Given the description of an element on the screen output the (x, y) to click on. 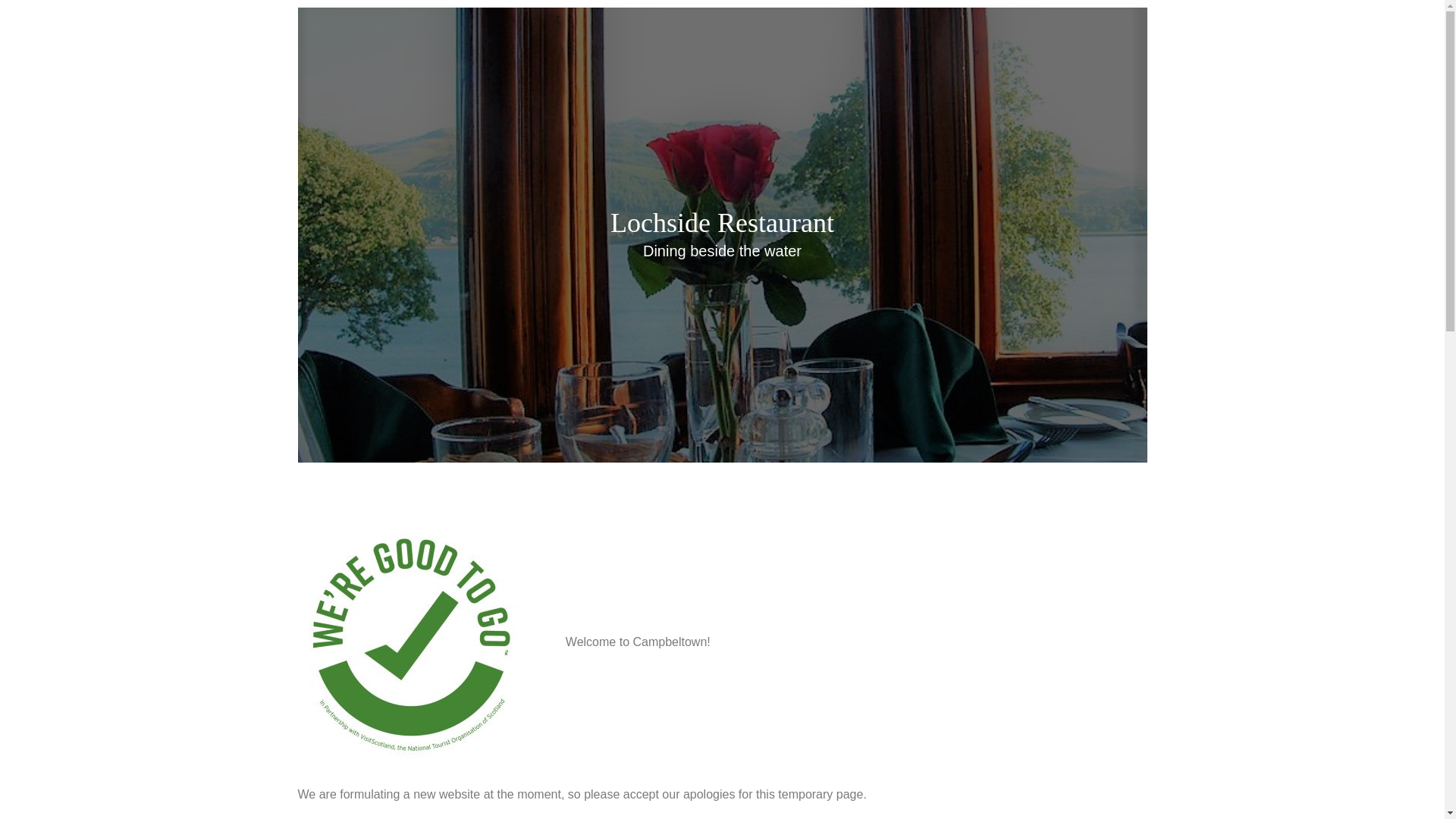
2 (722, 445)
1 (711, 445)
3 (732, 445)
